Given the description of an element on the screen output the (x, y) to click on. 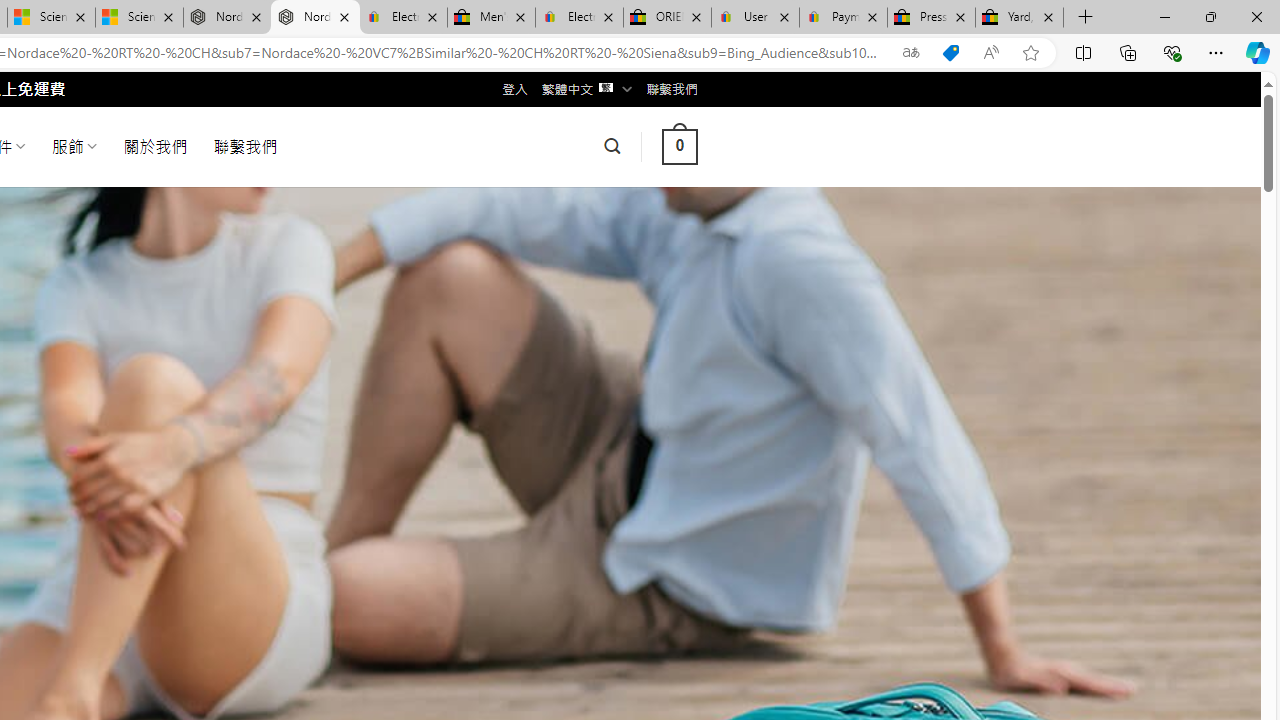
Press Room - eBay Inc. (931, 17)
Yard, Garden & Outdoor Living (1019, 17)
